Given the description of an element on the screen output the (x, y) to click on. 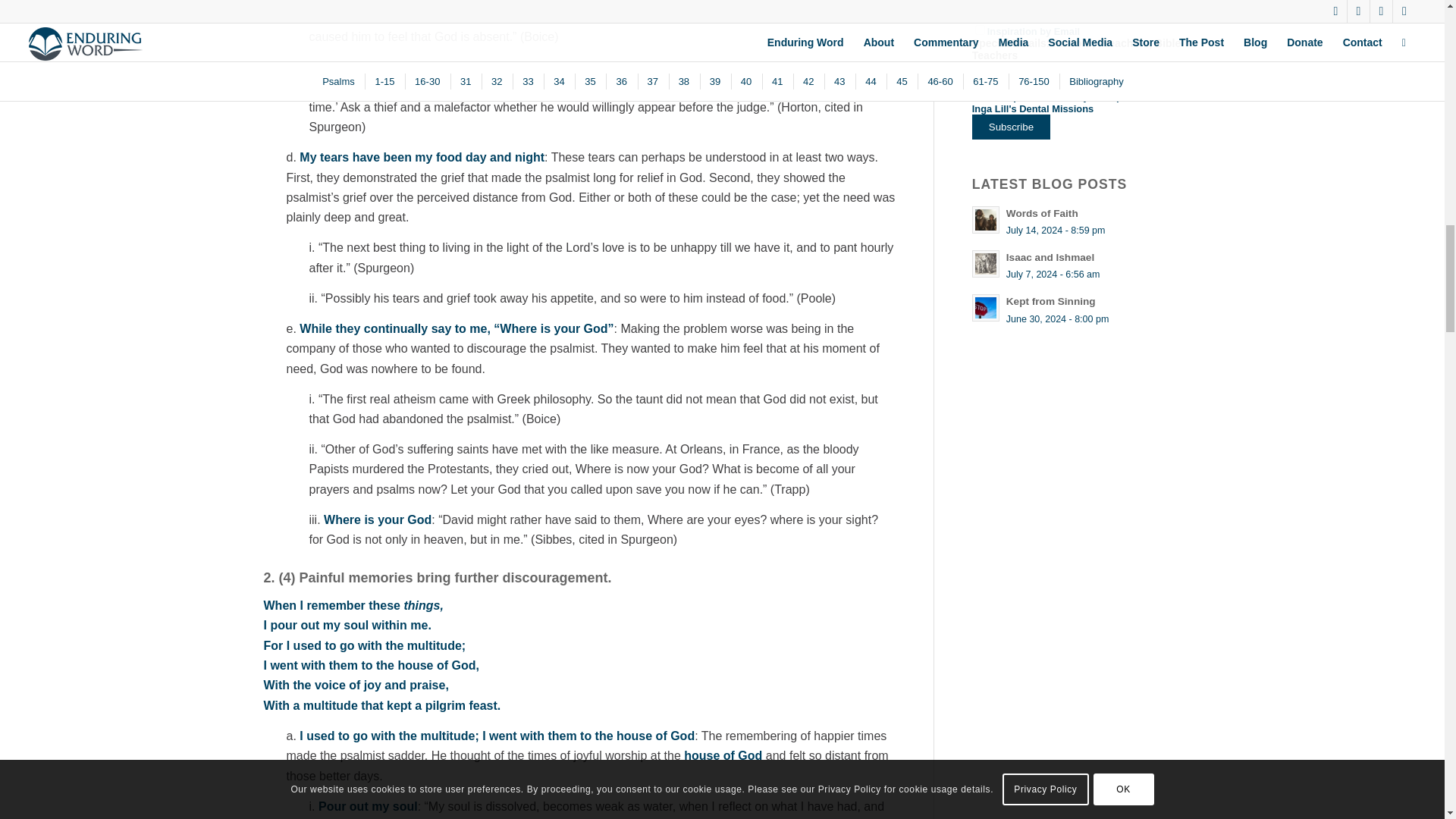
kept-from-sinning-500 - Enduring Word (985, 307)
Read: Words of Faith (1042, 213)
Words of Faith - Enduring Word (985, 219)
1 (980, 4)
Read: Isaac and Ishmael (1050, 256)
Read: Words of Faith (985, 219)
Read: Isaac and Ishmael (985, 263)
2 (980, 30)
Read: Kept from Sinning (1051, 301)
Subscribe (1010, 126)
Read: Kept from Sinning (985, 307)
4 (980, 68)
Isaac and Ishmael - Enduring Word (985, 263)
